Given the description of an element on the screen output the (x, y) to click on. 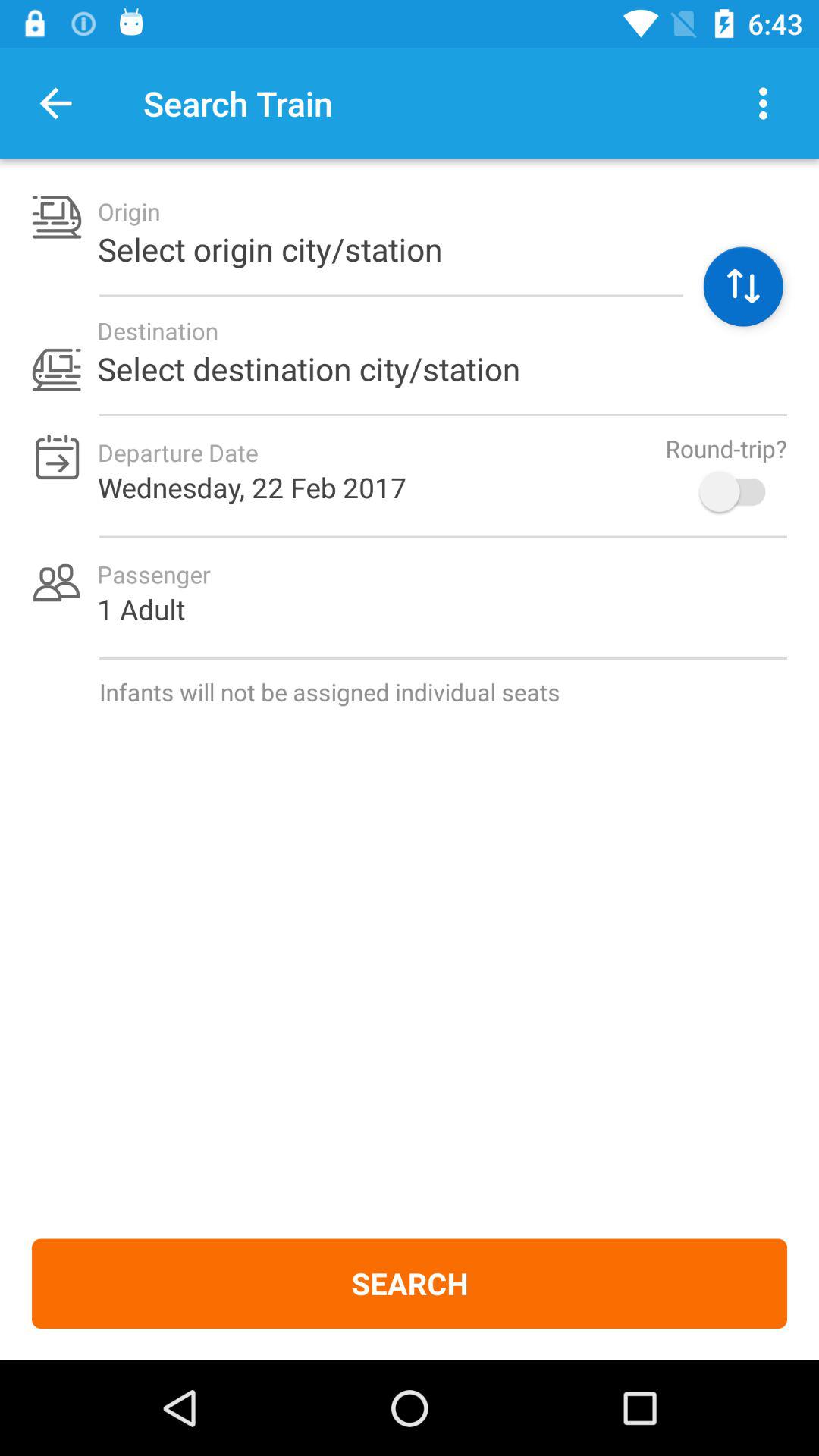
go to action dots (763, 103)
